Given the description of an element on the screen output the (x, y) to click on. 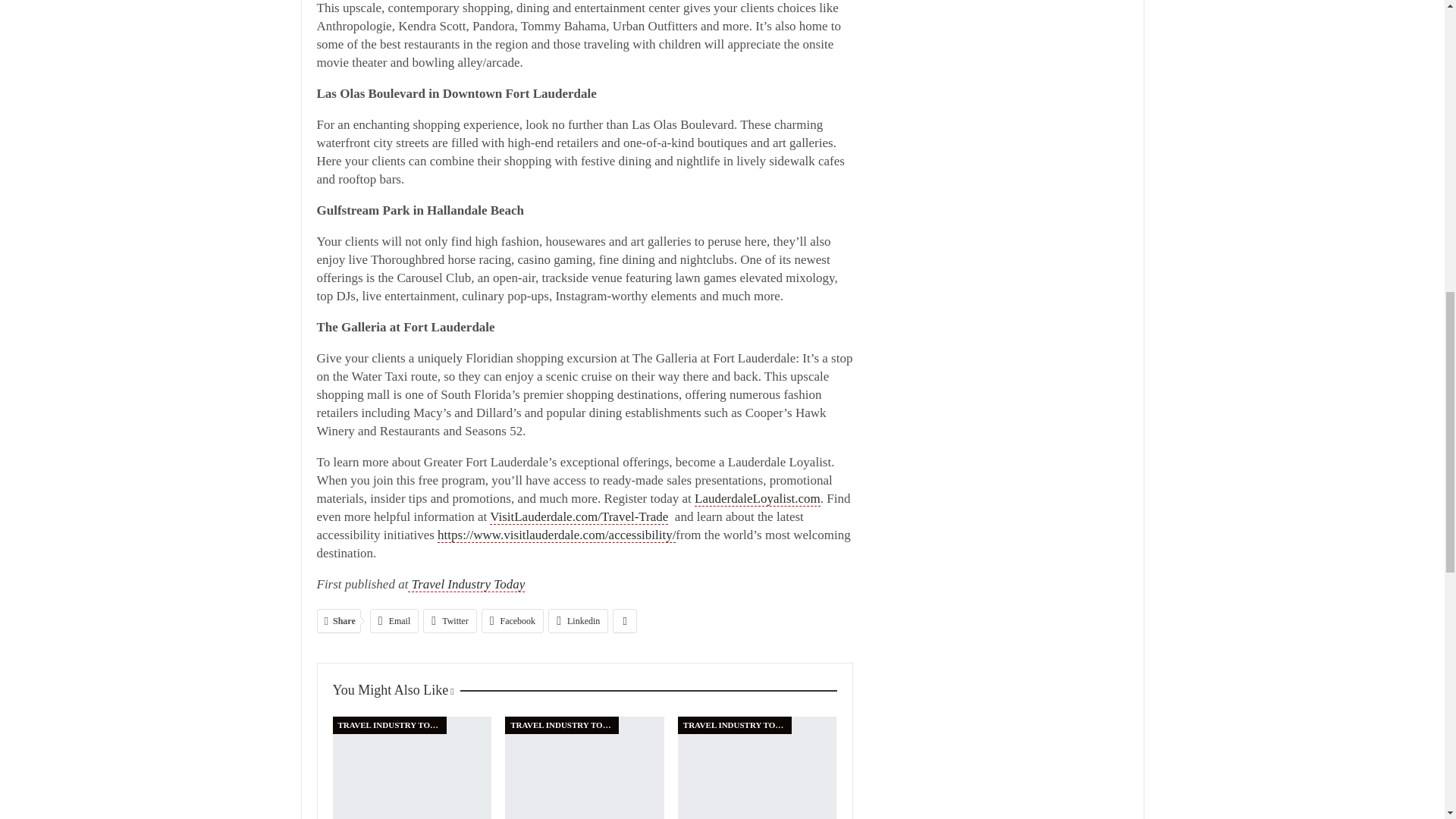
VIKING POLARIS CRUISE DELIVERS MORE THAN ADVENTURE (411, 767)
ROUND-UP: Dec. 25-29, 2023 (584, 767)
